Given the description of an element on the screen output the (x, y) to click on. 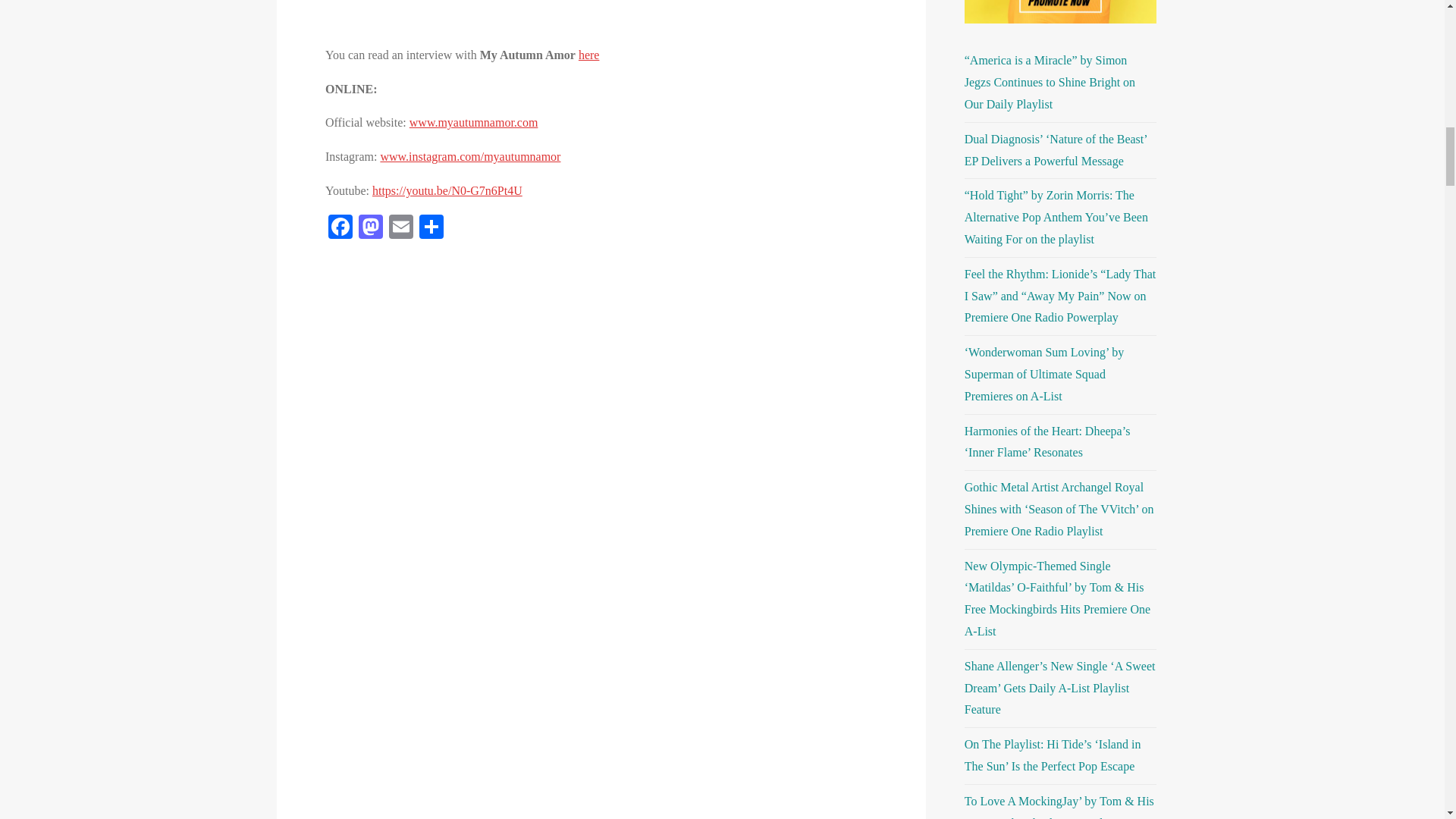
Email (399, 228)
Facebook (339, 228)
Email (399, 228)
www.myautumnamor.com (473, 122)
here (588, 54)
Mastodon (370, 228)
Facebook (339, 228)
Mastodon (370, 228)
My Autumn Amor - Quiet Girl (600, 22)
